Given the description of an element on the screen output the (x, y) to click on. 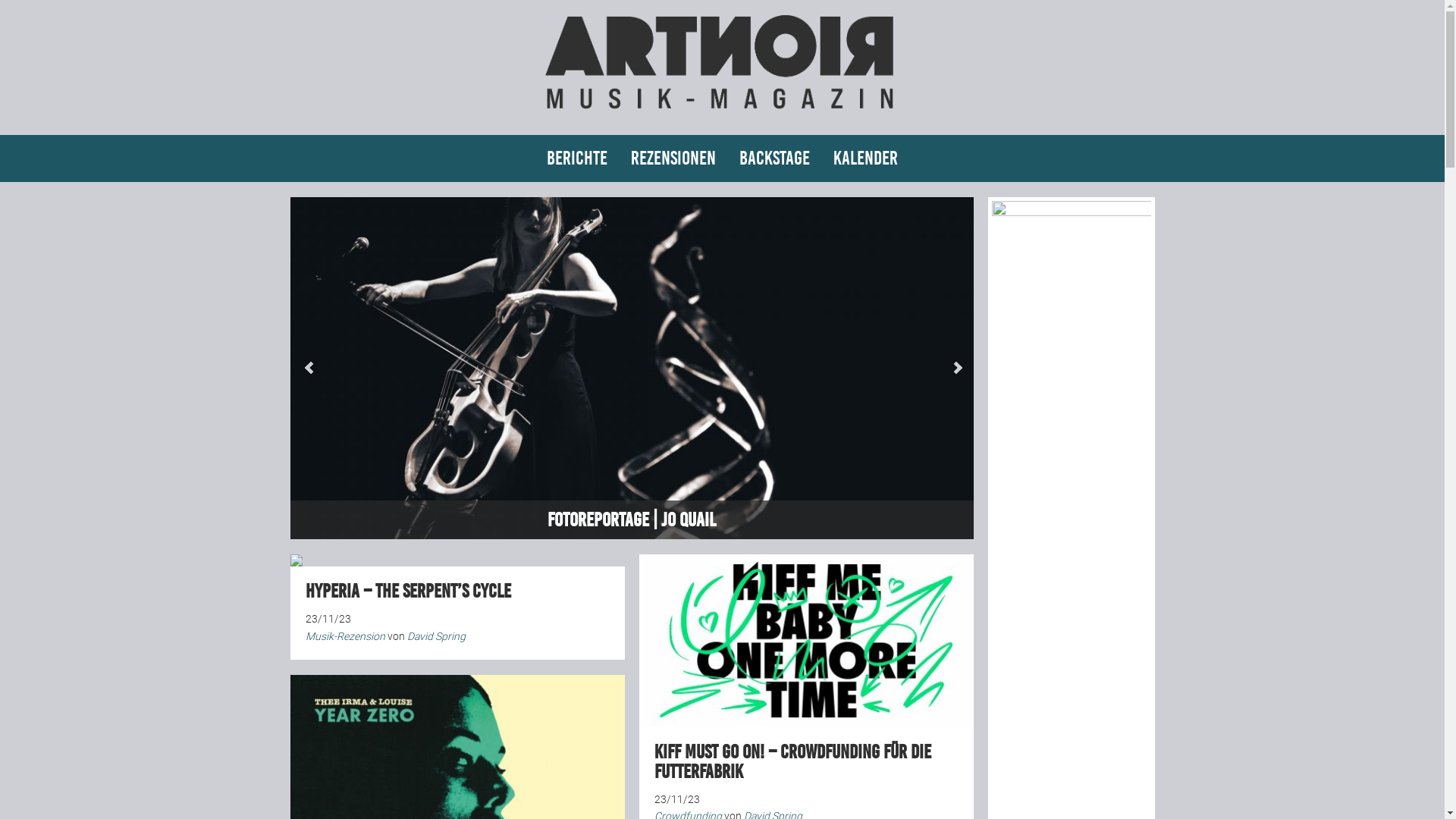
Kalender Element type: text (865, 158)
Suchen Element type: text (0, 0)
Next Element type: text (956, 367)
Rezensionen Element type: text (673, 158)
ARTNOIR Element type: hover (721, 115)
Backstage Element type: text (774, 158)
Suchen nach: Element type: hover (1135, 164)
Prev Element type: text (309, 367)
Berichte Element type: text (577, 158)
Musik-Rezension Element type: text (344, 636)
David Spring Element type: text (435, 636)
